Given the description of an element on the screen output the (x, y) to click on. 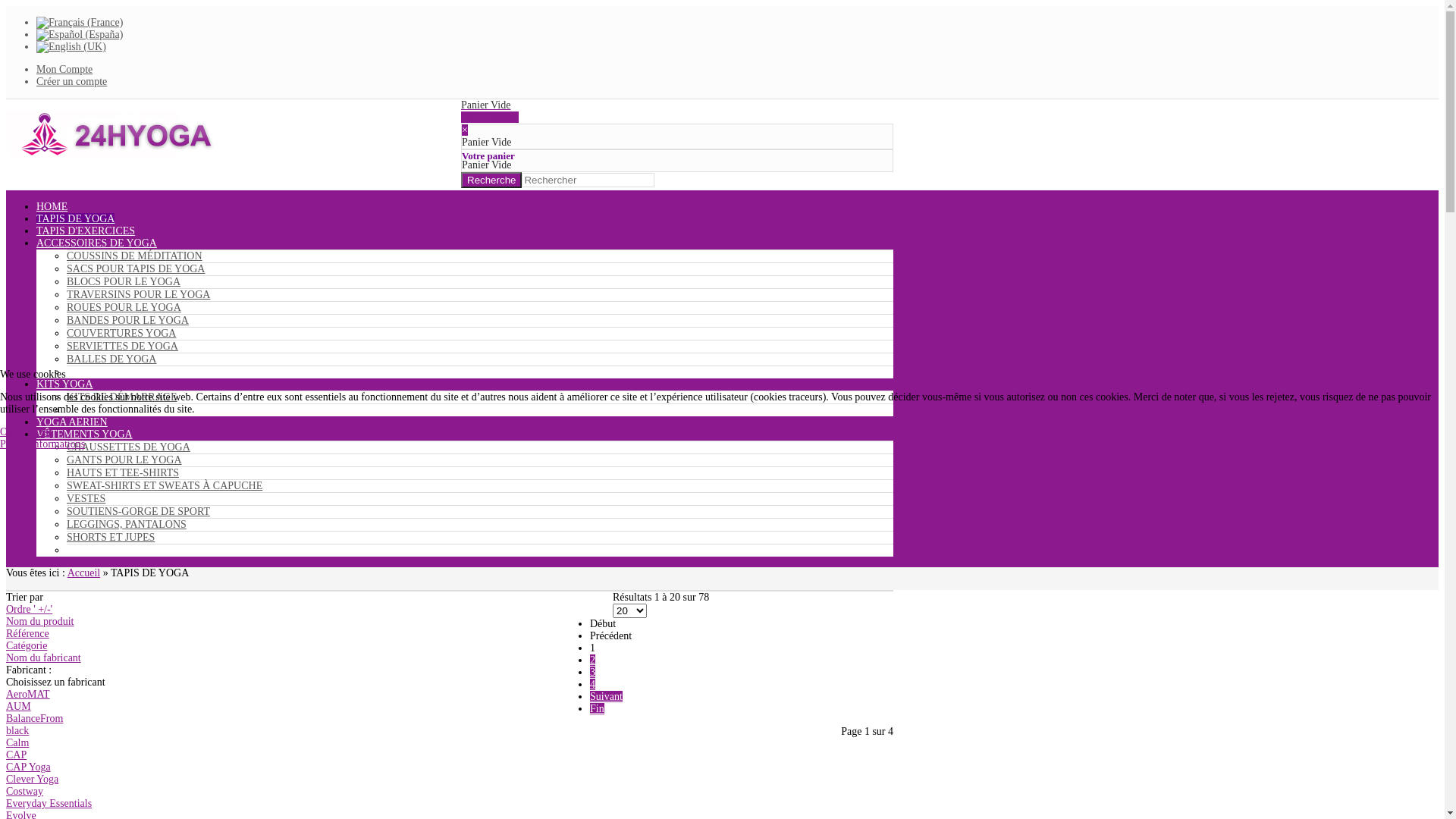
Nom du produit Element type: text (39, 621)
Je refuse Element type: text (34, 431)
ROUES POUR LE YOGA Element type: text (123, 307)
CAP Element type: text (16, 754)
CHAUSSETTES DE YOGA Element type: text (128, 446)
English (UK) Element type: hover (71, 46)
YOGA AERIEN Element type: text (71, 421)
Ok Element type: text (6, 431)
Panier Vide
Voir le panier Element type: text (677, 110)
2 Element type: text (592, 659)
LEGGINGS, PANTALONS Element type: text (126, 524)
TRAVERSINS POUR LE YOGA Element type: text (138, 294)
BALLES DE YOGA Element type: text (111, 358)
SACS POUR TAPIS DE YOGA Element type: text (135, 268)
KITS YOGA Element type: text (64, 383)
CAP Yoga Element type: text (28, 766)
TAPIS D'EXERCICES Element type: text (85, 230)
SERVIETTES DE YOGA Element type: text (122, 345)
Nom du fabricant Element type: text (43, 657)
Ordre ' +/-' Element type: text (29, 609)
GANTS POUR LE YOGA Element type: text (124, 459)
AeroMAT Element type: text (28, 693)
Fin Element type: text (596, 708)
TAPIS DE YOGA Element type: text (75, 218)
Plus d' informations Element type: text (42, 443)
HOME Element type: text (51, 206)
HAUTS ET TEE-SHIRTS Element type: text (122, 472)
SHORTS ET JUPES Element type: text (110, 536)
Accueil Element type: text (83, 572)
Costway Element type: text (24, 791)
COUVERTURES YOGA Element type: text (120, 332)
Everyday Essentials Element type: text (48, 803)
Calm Element type: text (17, 742)
Mon Compte Element type: text (64, 69)
Suivant Element type: text (605, 696)
BANDES POUR LE YOGA Element type: text (127, 320)
Recherche Element type: text (491, 180)
VESTES Element type: text (85, 498)
ACCESSOIRES DE YOGA Element type: text (96, 242)
4 Element type: text (592, 684)
black Element type: text (17, 730)
3 Element type: text (592, 671)
BLOCS POUR LE YOGA Element type: text (123, 281)
SOUTIENS-GORGE DE SPORT Element type: text (138, 511)
BalanceFrom Element type: text (34, 718)
Clever Yoga Element type: text (32, 778)
AUM Element type: text (18, 706)
